Given the description of an element on the screen output the (x, y) to click on. 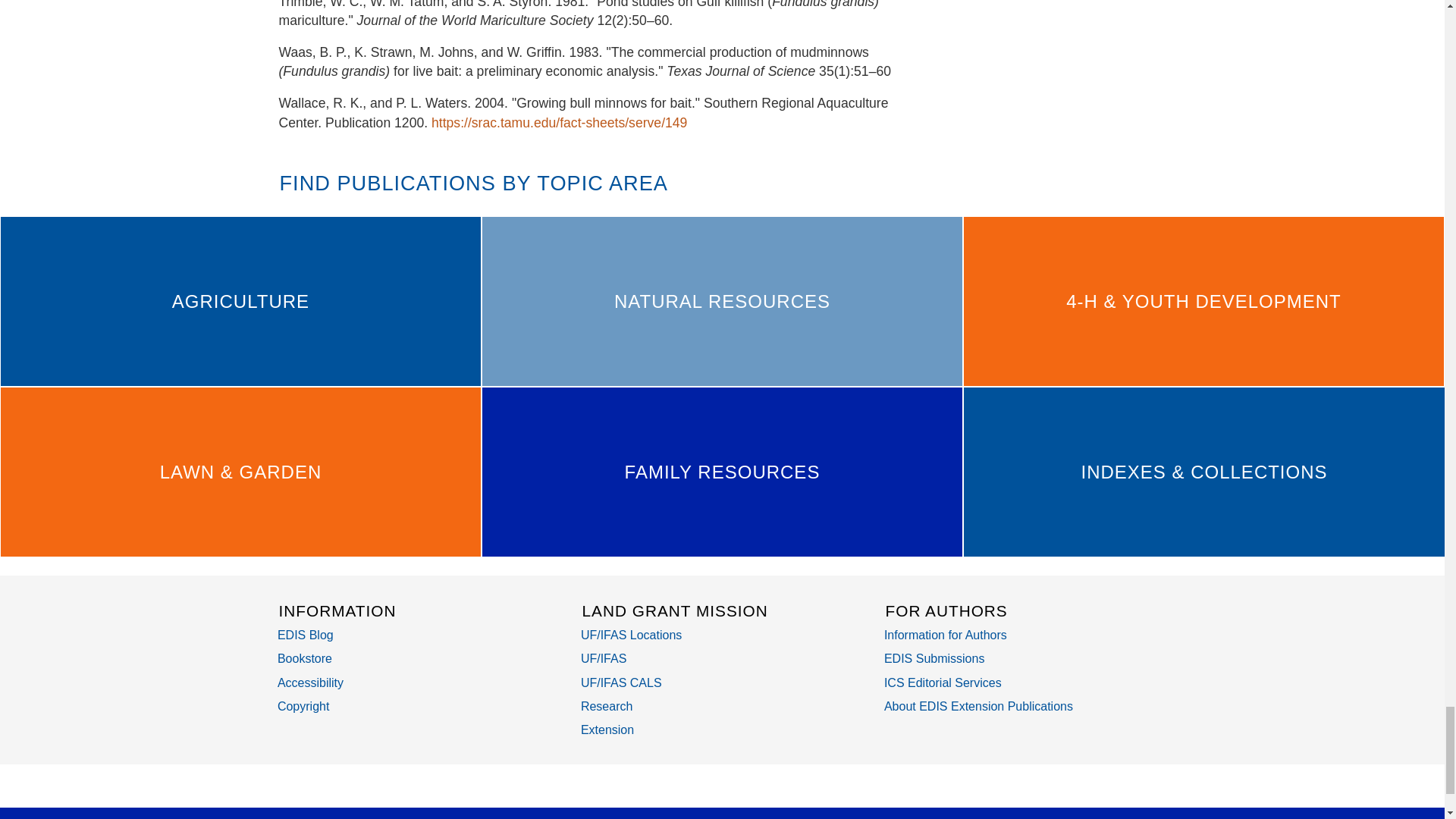
Copyright (303, 706)
AGRICULTURE (240, 301)
FAMILY RESOURCES (721, 471)
EDIS Blog (305, 634)
Accessibility (310, 682)
College of Agricultural and Life Sciences (621, 682)
NATURAL RESOURCES (721, 301)
